Given the description of an element on the screen output the (x, y) to click on. 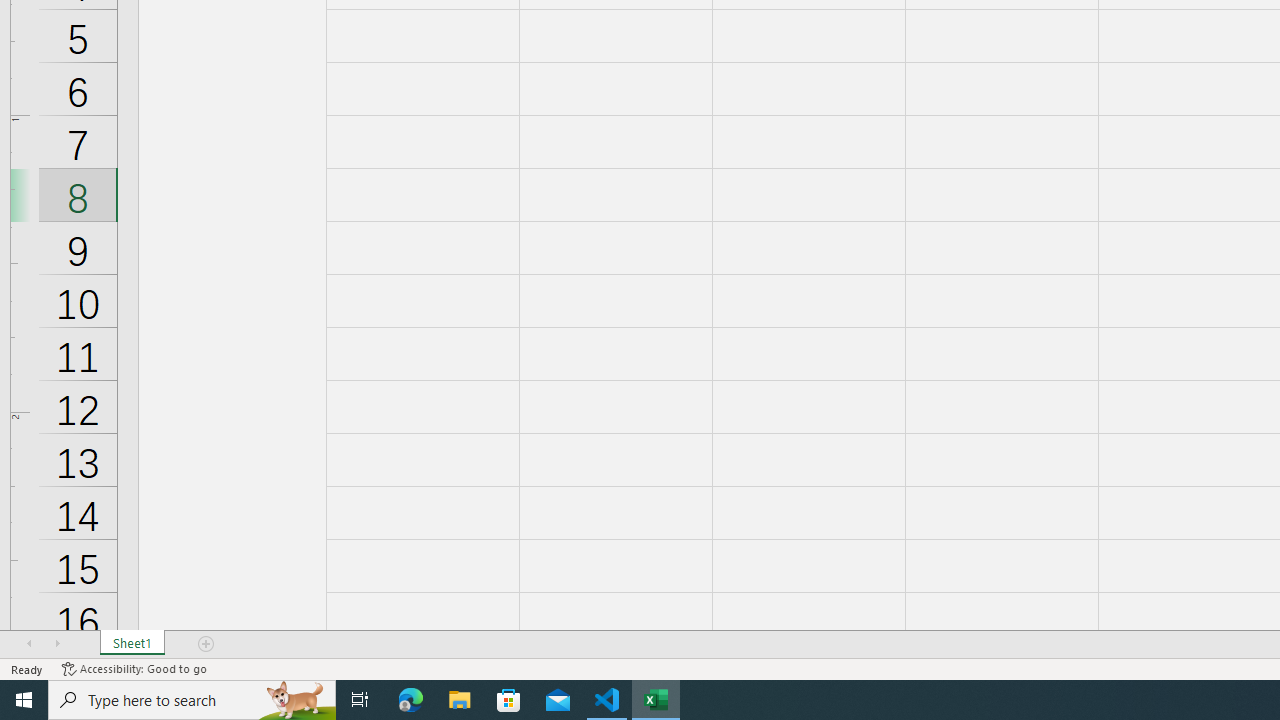
Scroll Left (29, 644)
Sheet1 (132, 644)
Add Sheet (207, 644)
Scroll Right (57, 644)
Accessibility Checker Accessibility: Good to go (134, 668)
